Given the description of an element on the screen output the (x, y) to click on. 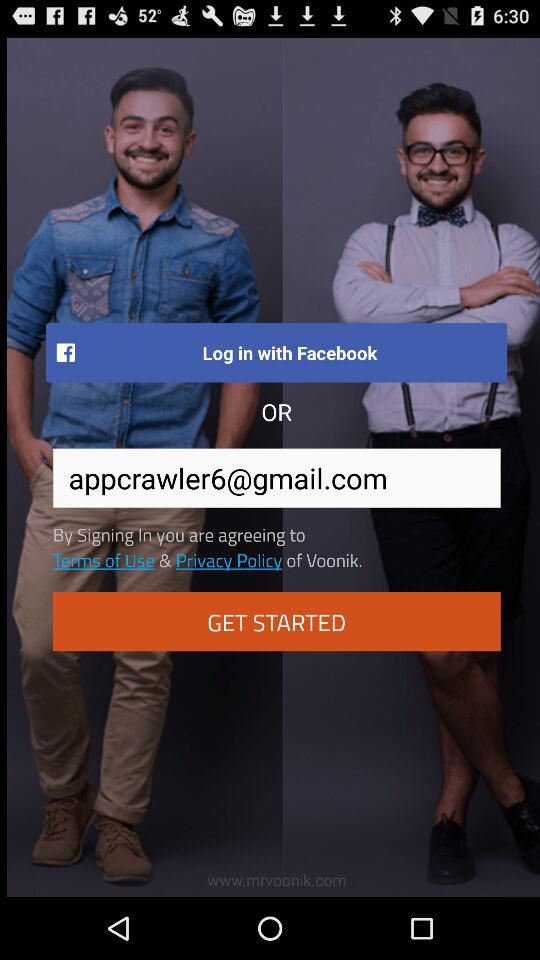
turn on the item next to the  &  item (228, 559)
